Given the description of an element on the screen output the (x, y) to click on. 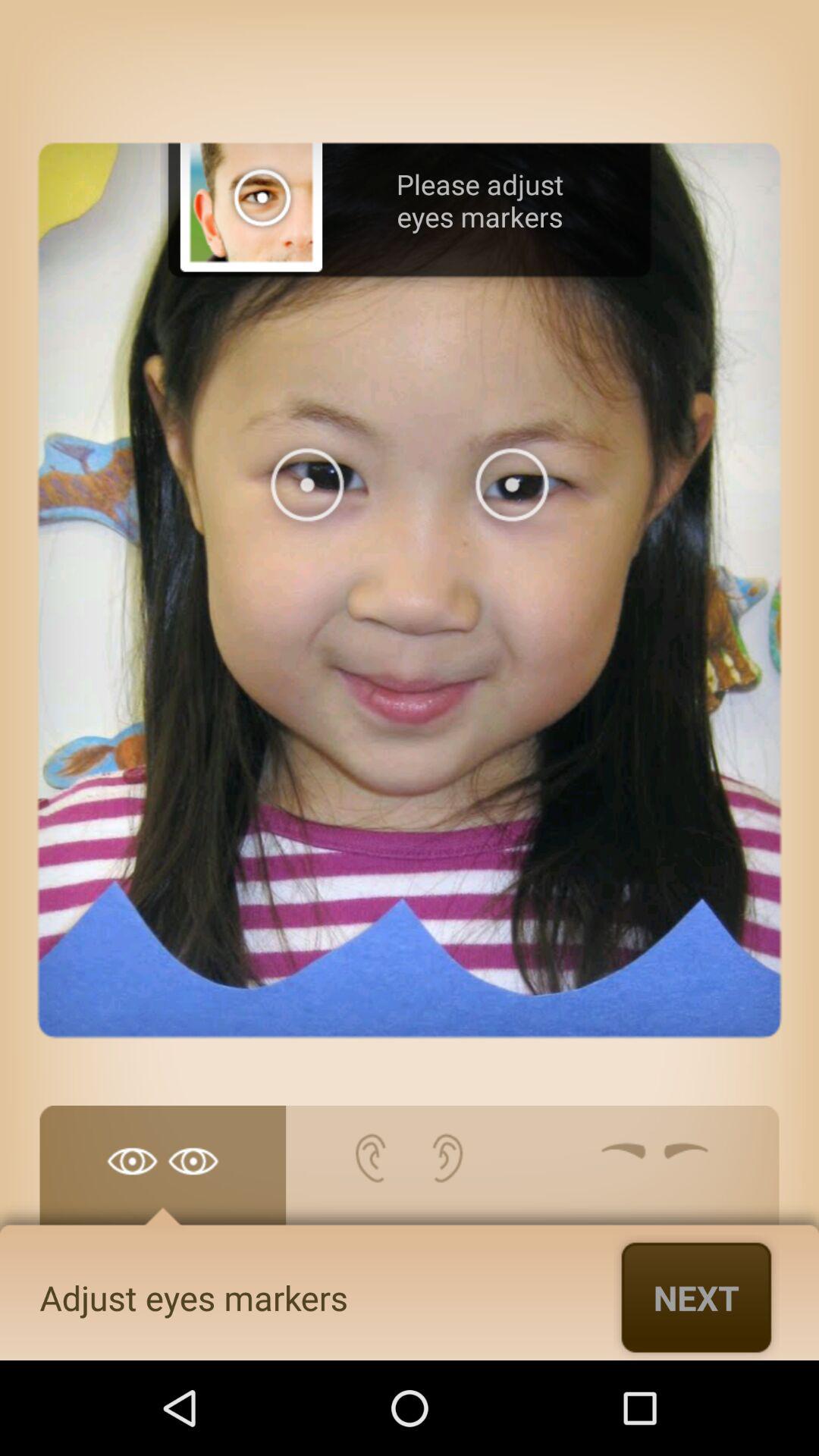
turn on icon below the please adjust eyes item (696, 1297)
